Given the description of an element on the screen output the (x, y) to click on. 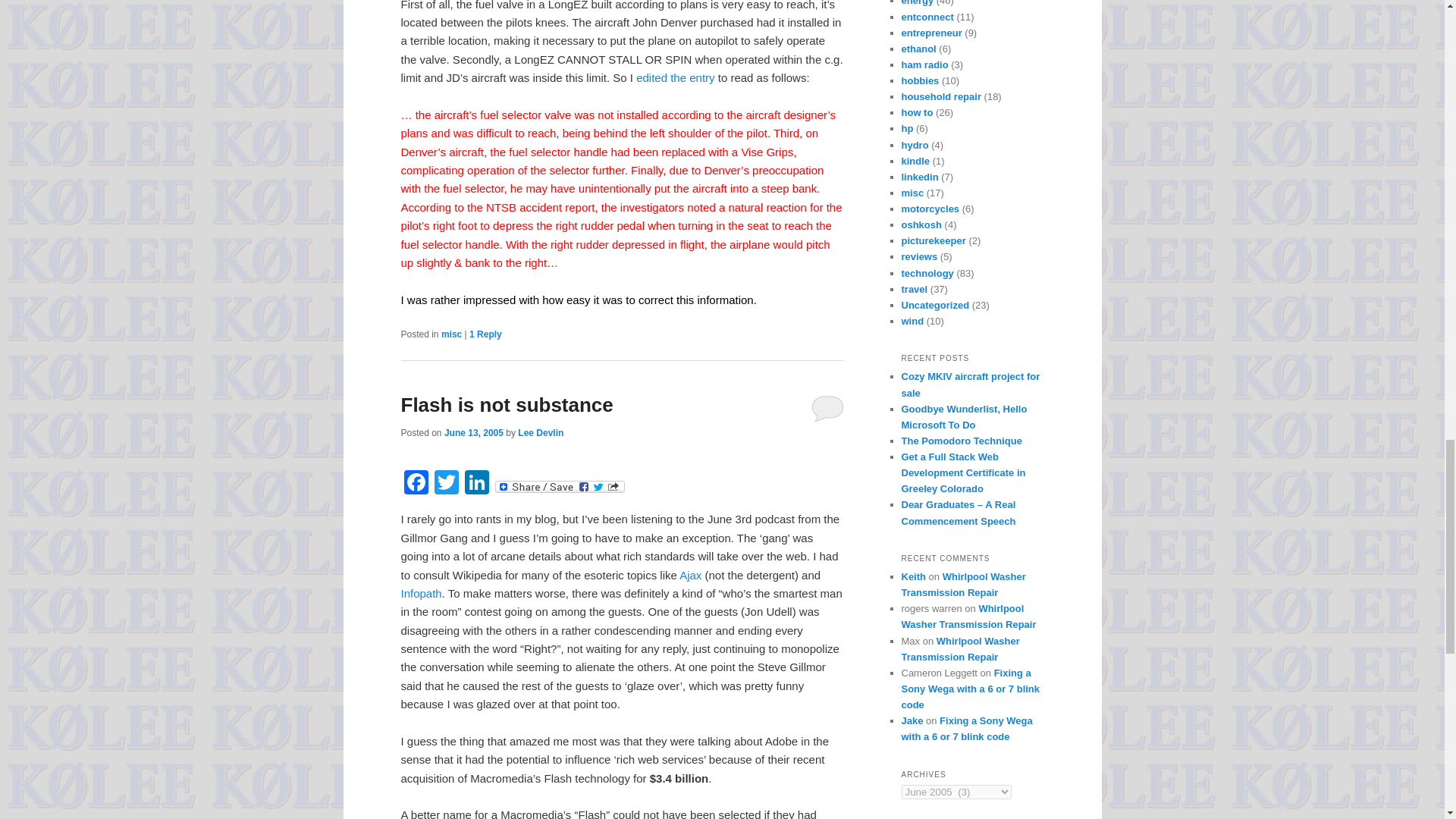
View all posts by Lee Devlin (540, 432)
Flash is not substance (506, 404)
Facebook (415, 483)
edited the entry (675, 77)
LinkedIn (476, 483)
1 Reply (485, 334)
June 13, 2005 (473, 432)
Facebook (415, 483)
Twitter (445, 483)
misc (451, 334)
